Given the description of an element on the screen output the (x, y) to click on. 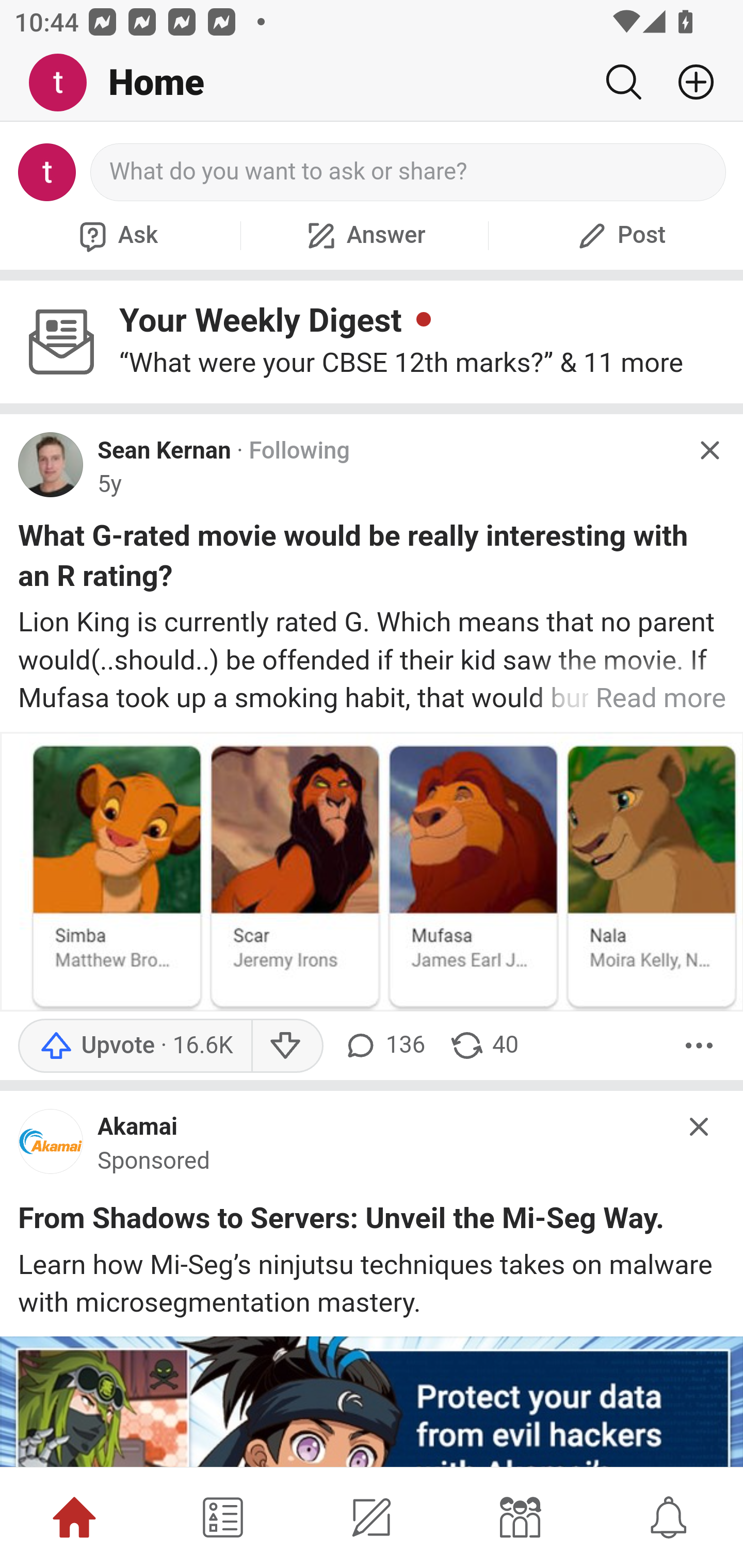
Me Home Search Add (371, 82)
Me (64, 83)
Search (623, 82)
Add (688, 82)
